Given the description of an element on the screen output the (x, y) to click on. 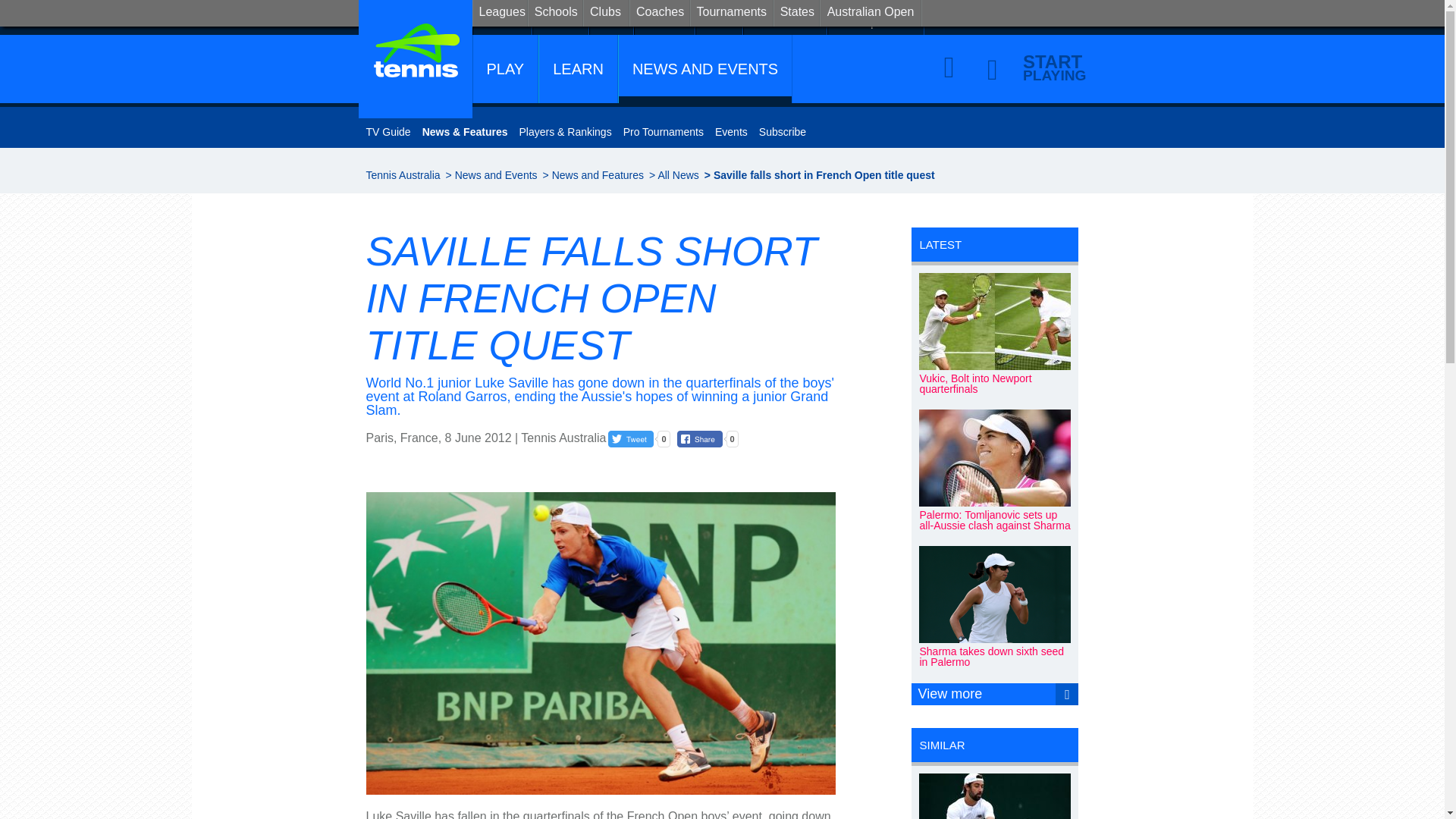
Tennis Australia (402, 174)
Schools (555, 13)
Coaches (658, 13)
News and Events (495, 174)
Schools (560, 16)
Leagues (499, 13)
Australian Open (876, 17)
Coaches (664, 16)
Tournaments (731, 13)
Clubs (605, 13)
Australian Open (870, 13)
Leagues (502, 16)
States (718, 16)
Tournaments (785, 16)
